Given the description of an element on the screen output the (x, y) to click on. 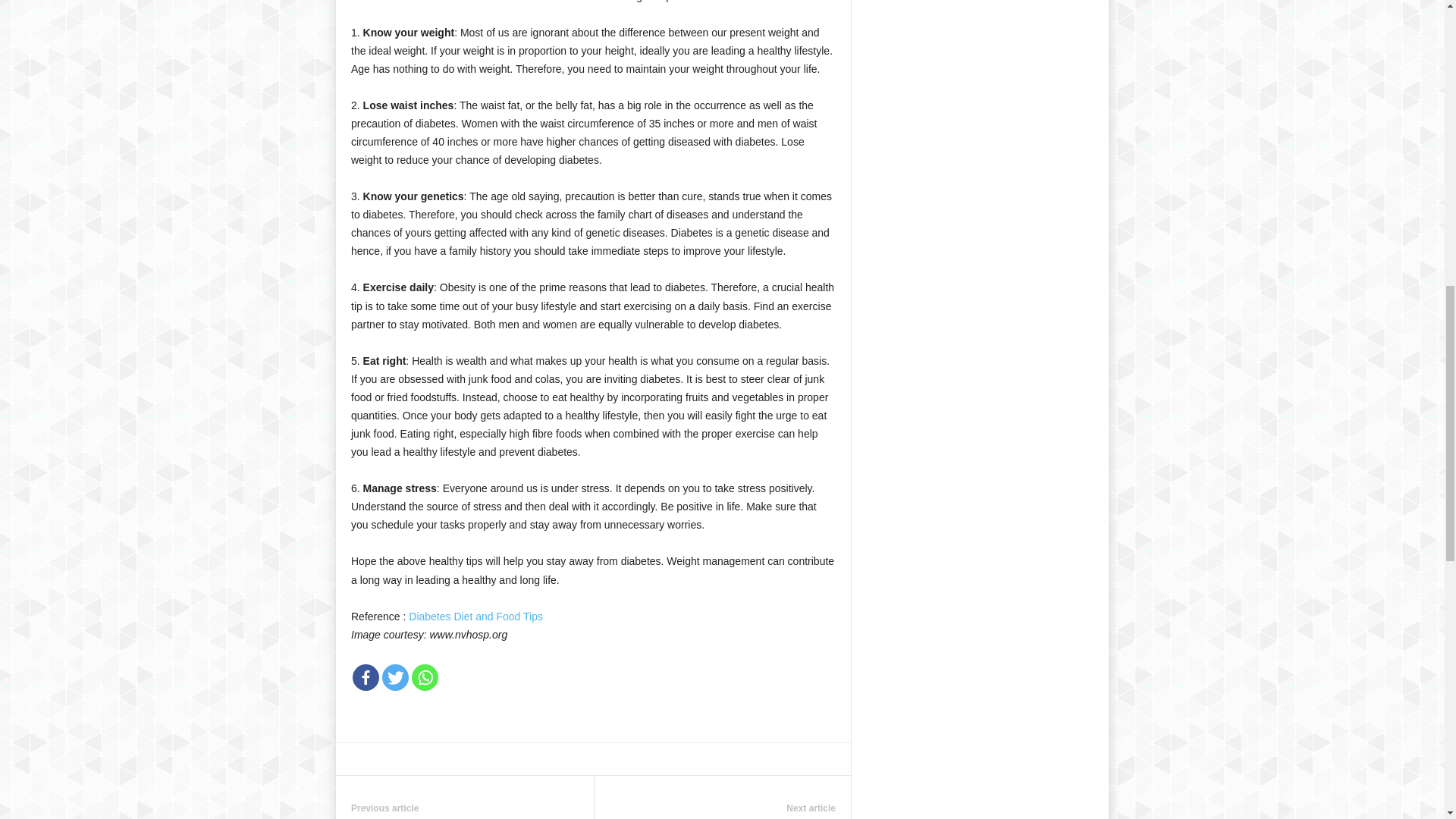
Facebook (365, 677)
Diabetes Diet and Food Tips (476, 616)
